Given the description of an element on the screen output the (x, y) to click on. 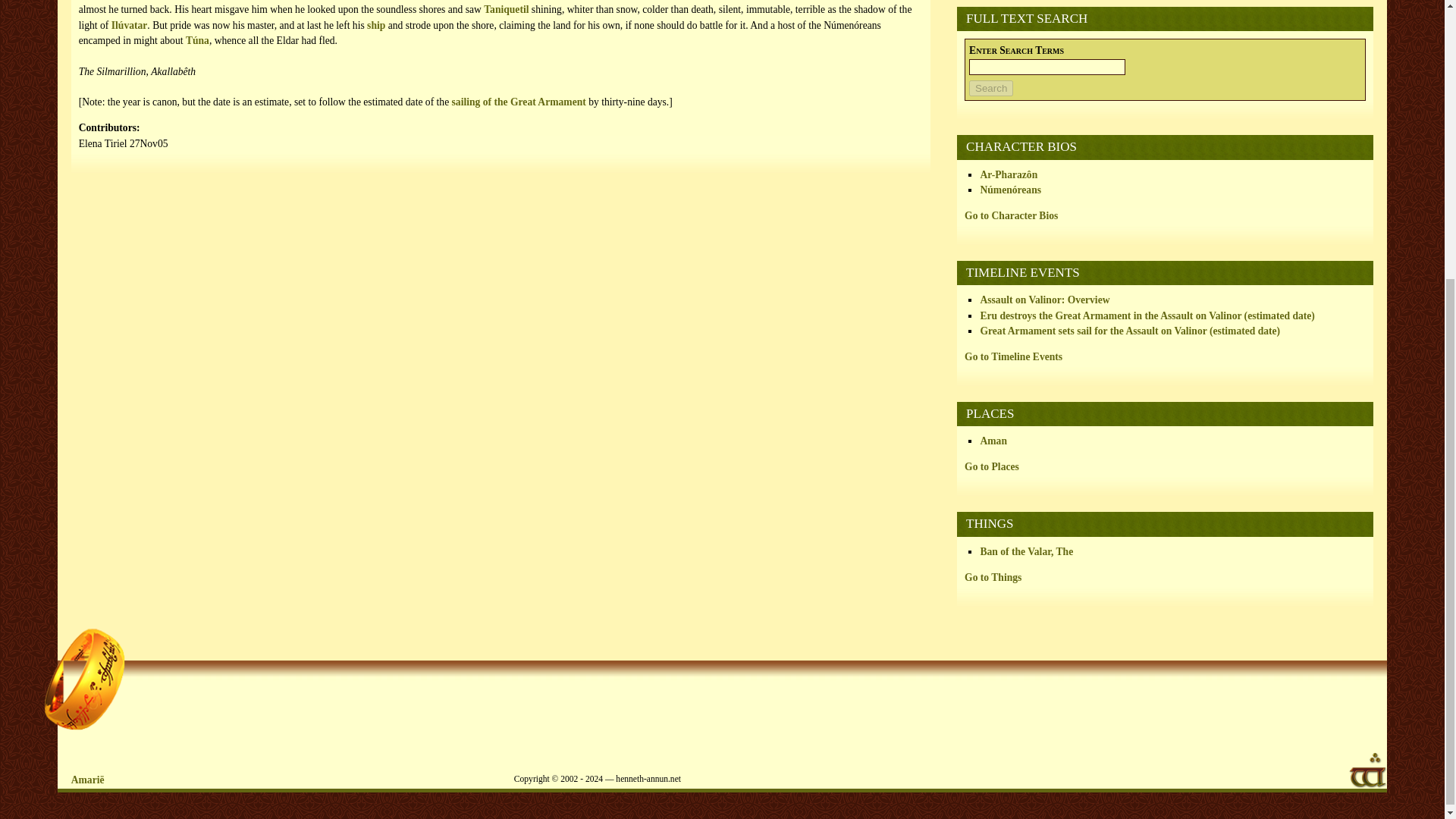
Taniquetil (505, 9)
Click to view Aman (993, 440)
Click to view Assault on Valinor: Overview (1044, 299)
Click to view Ban of the Valar, The (1026, 551)
Go to Character Bios (1010, 215)
ship (375, 25)
Assault on Valinor: Overview (1044, 299)
Required (1016, 50)
Search (991, 88)
Search (991, 88)
sailing of the Great Armament (518, 101)
